Given the description of an element on the screen output the (x, y) to click on. 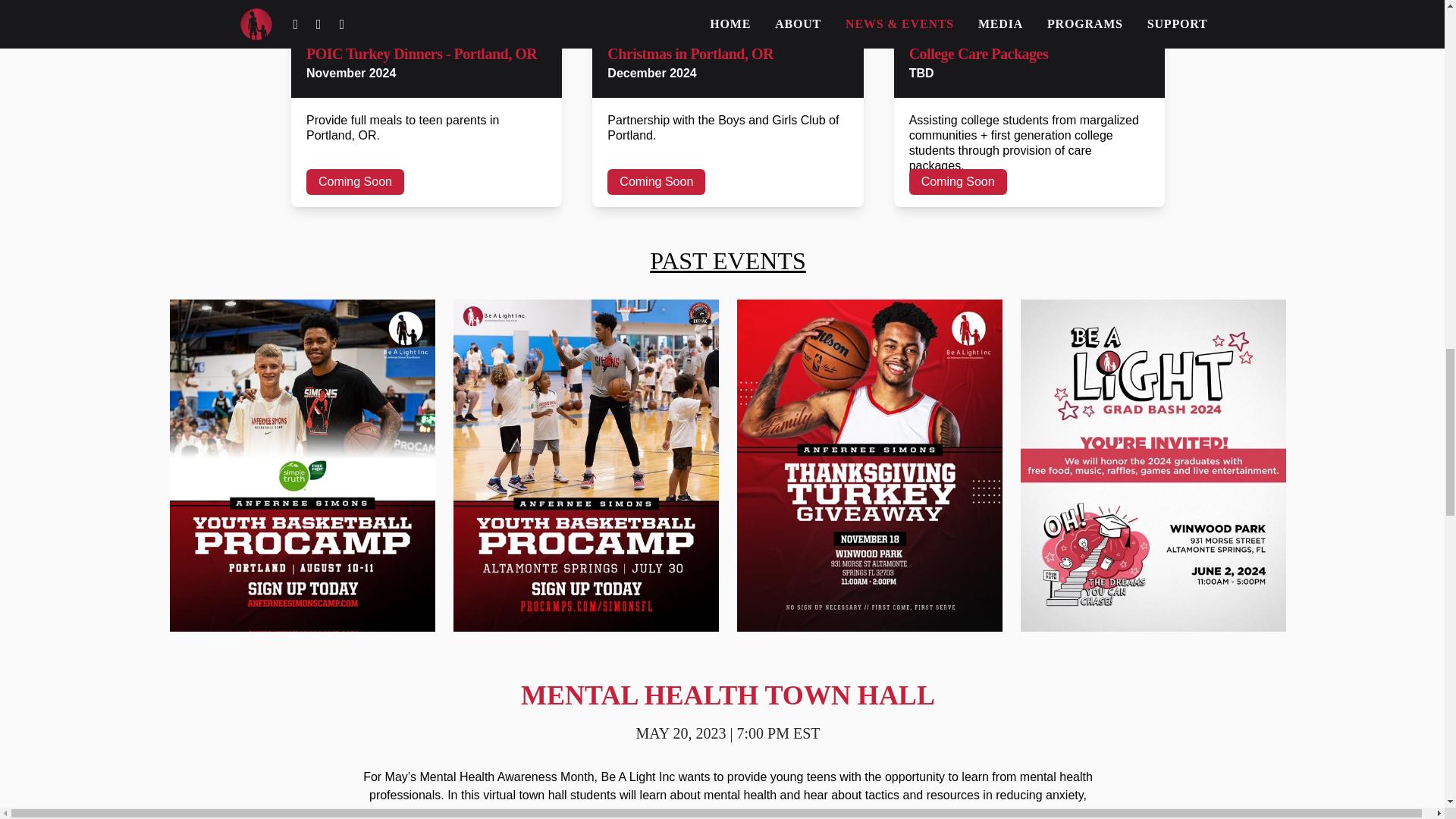
Coming Soon (354, 181)
Coming Soon (655, 181)
Coming Soon (957, 181)
